Given the description of an element on the screen output the (x, y) to click on. 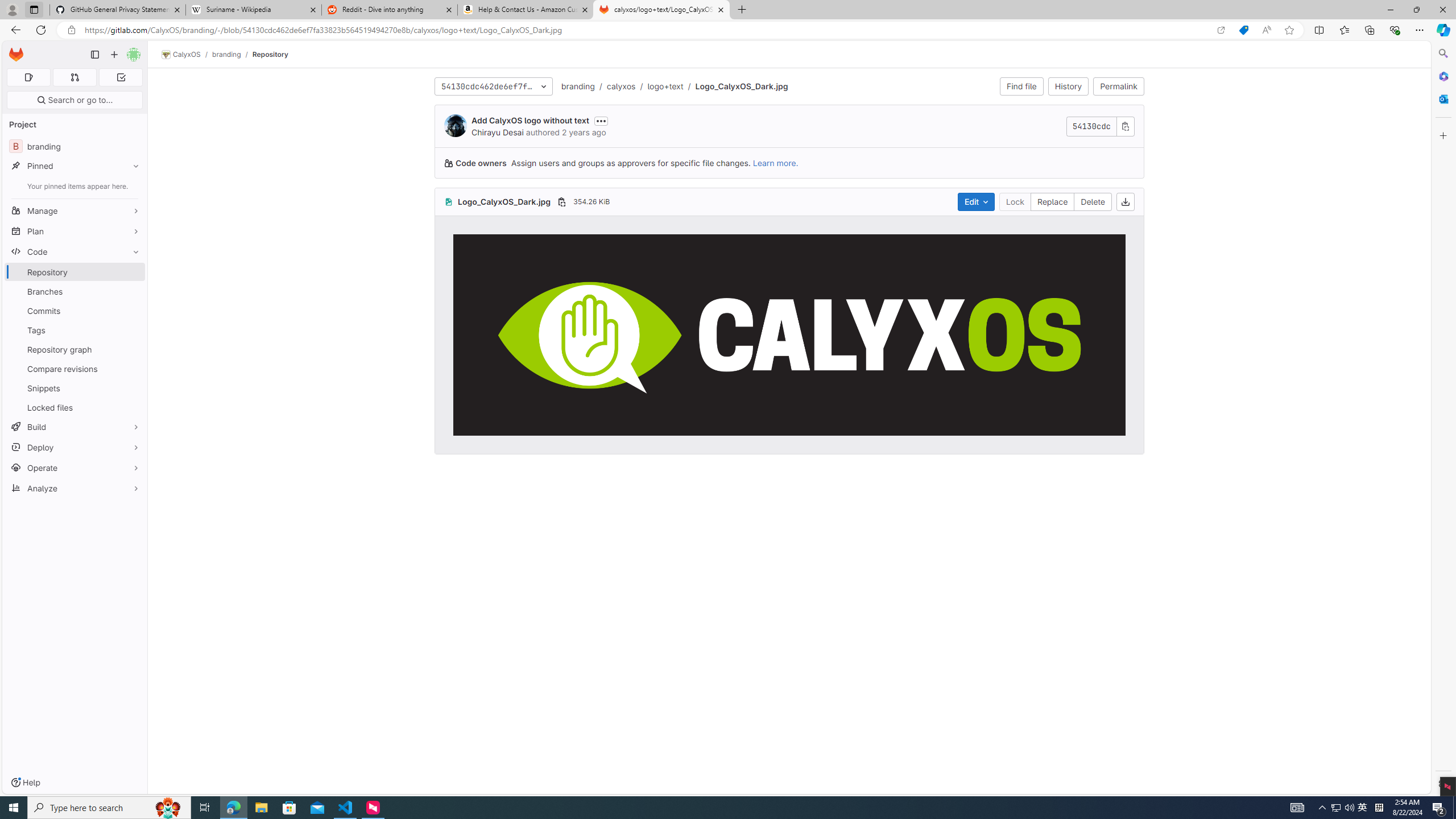
Download (1125, 201)
Copy commit SHA (1125, 126)
Operate (74, 467)
Create new... (113, 54)
Pin Locked files (132, 407)
Code (74, 251)
Permalink (1118, 85)
Analyze (74, 488)
Build (74, 426)
Branches (74, 290)
